Given the description of an element on the screen output the (x, y) to click on. 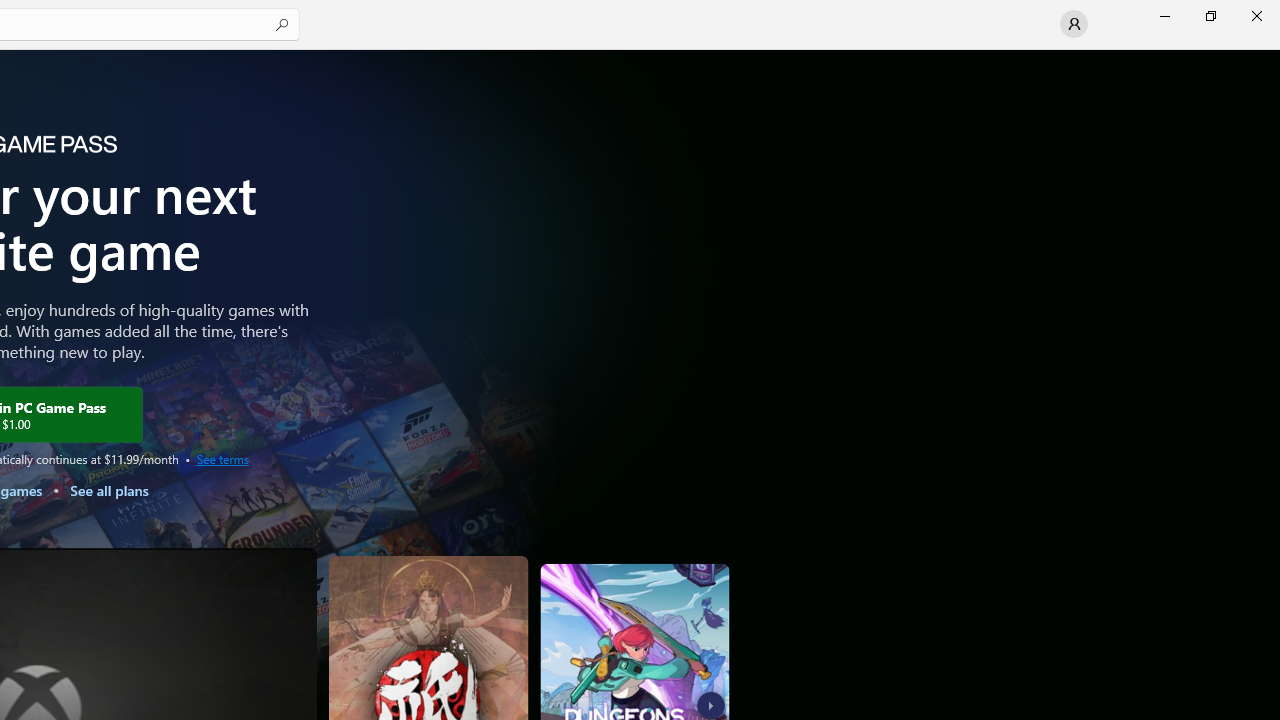
See terms (221, 457)
See all plans (108, 490)
